Given the description of an element on the screen output the (x, y) to click on. 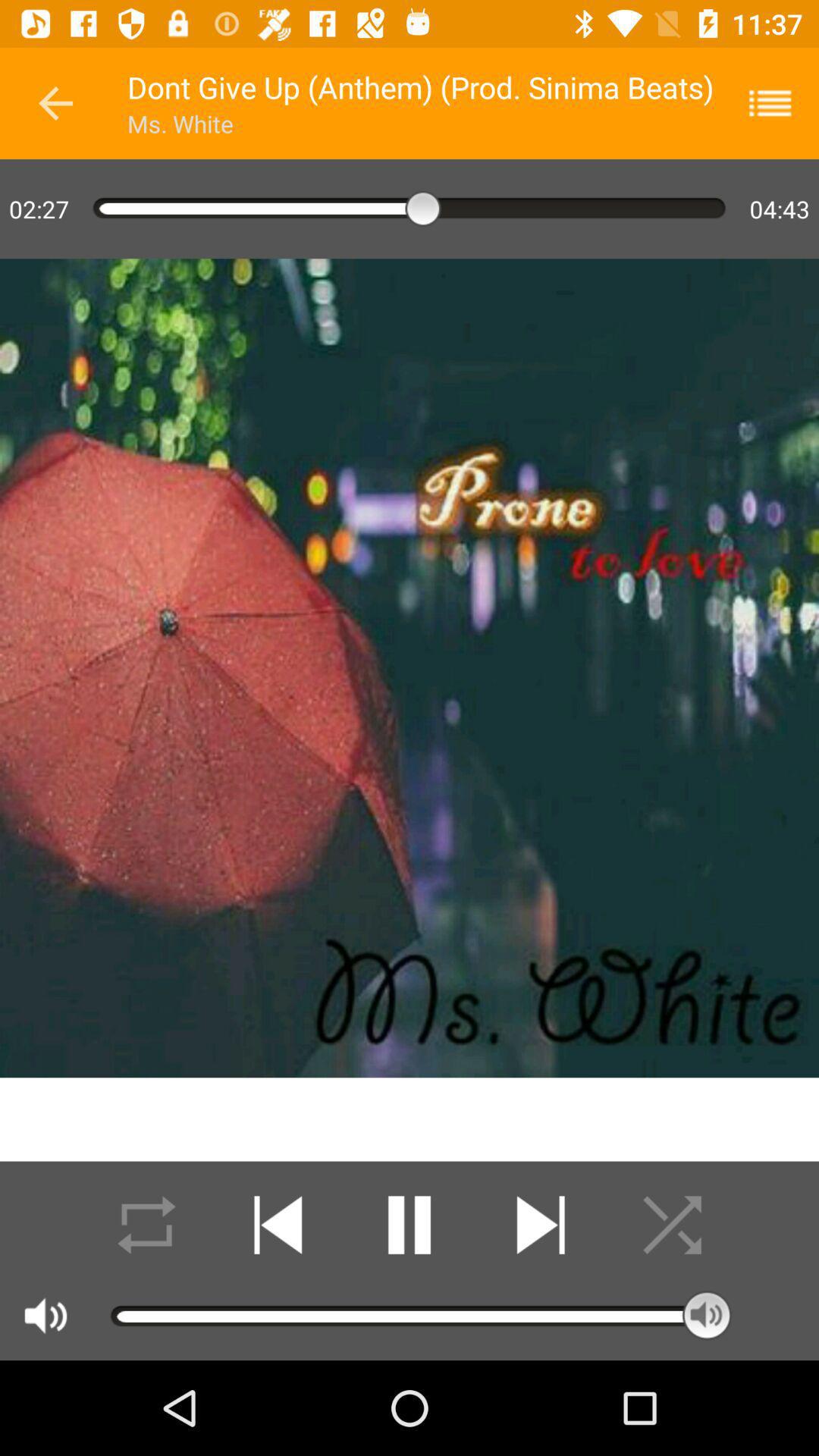
rewind song (277, 1224)
